Given the description of an element on the screen output the (x, y) to click on. 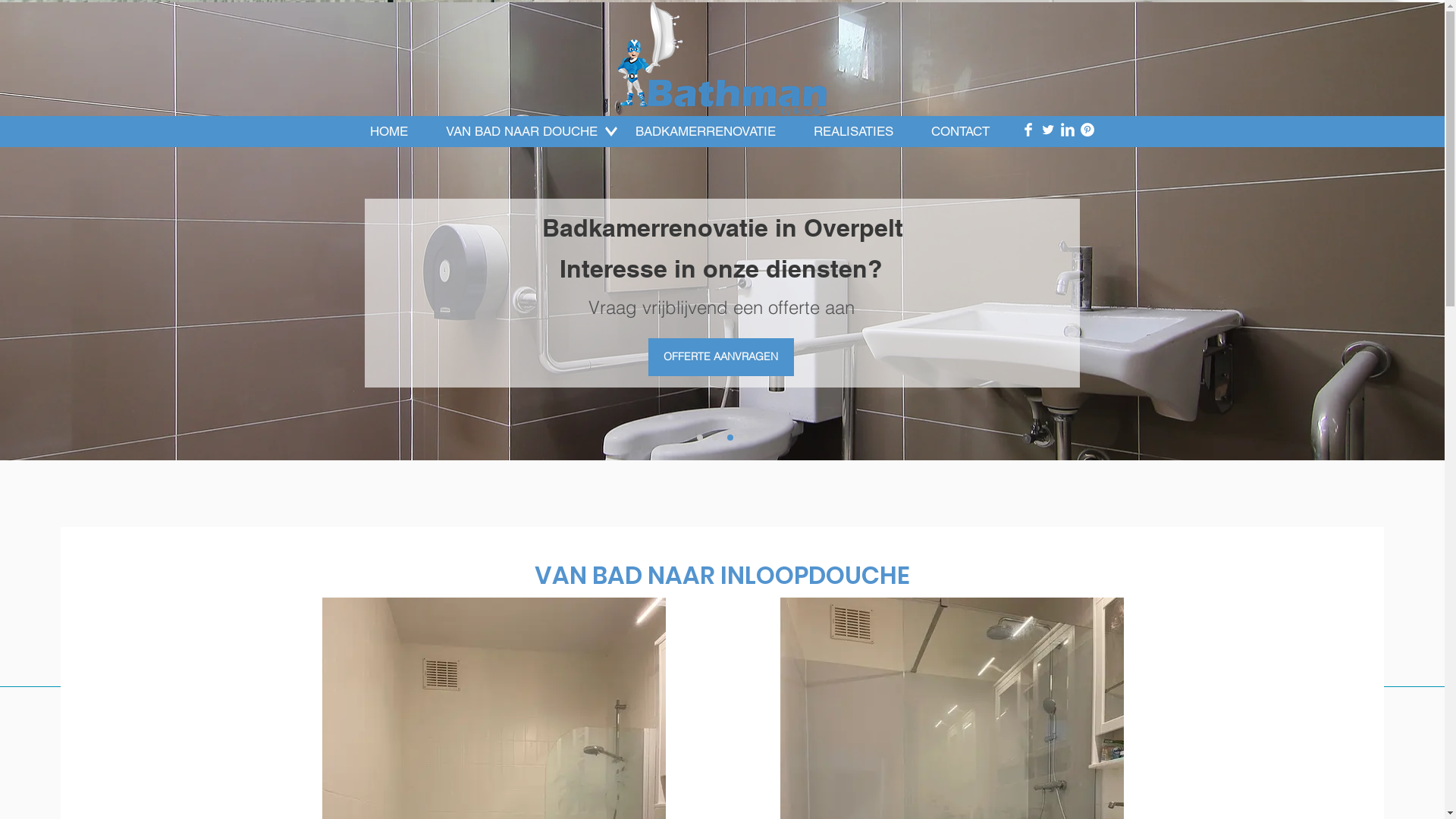
OFFERTE AANVRAGEN Element type: text (720, 357)
CONTACT Element type: text (959, 131)
BADKAMERRENOVATIE Element type: text (704, 131)
HOME Element type: text (388, 131)
REALISATIES Element type: text (853, 131)
READ MORE Element type: text (1019, 674)
VAN BAD NAAR DOUCHE Element type: text (520, 131)
Embedded Content Element type: hover (438, 53)
